Given the description of an element on the screen output the (x, y) to click on. 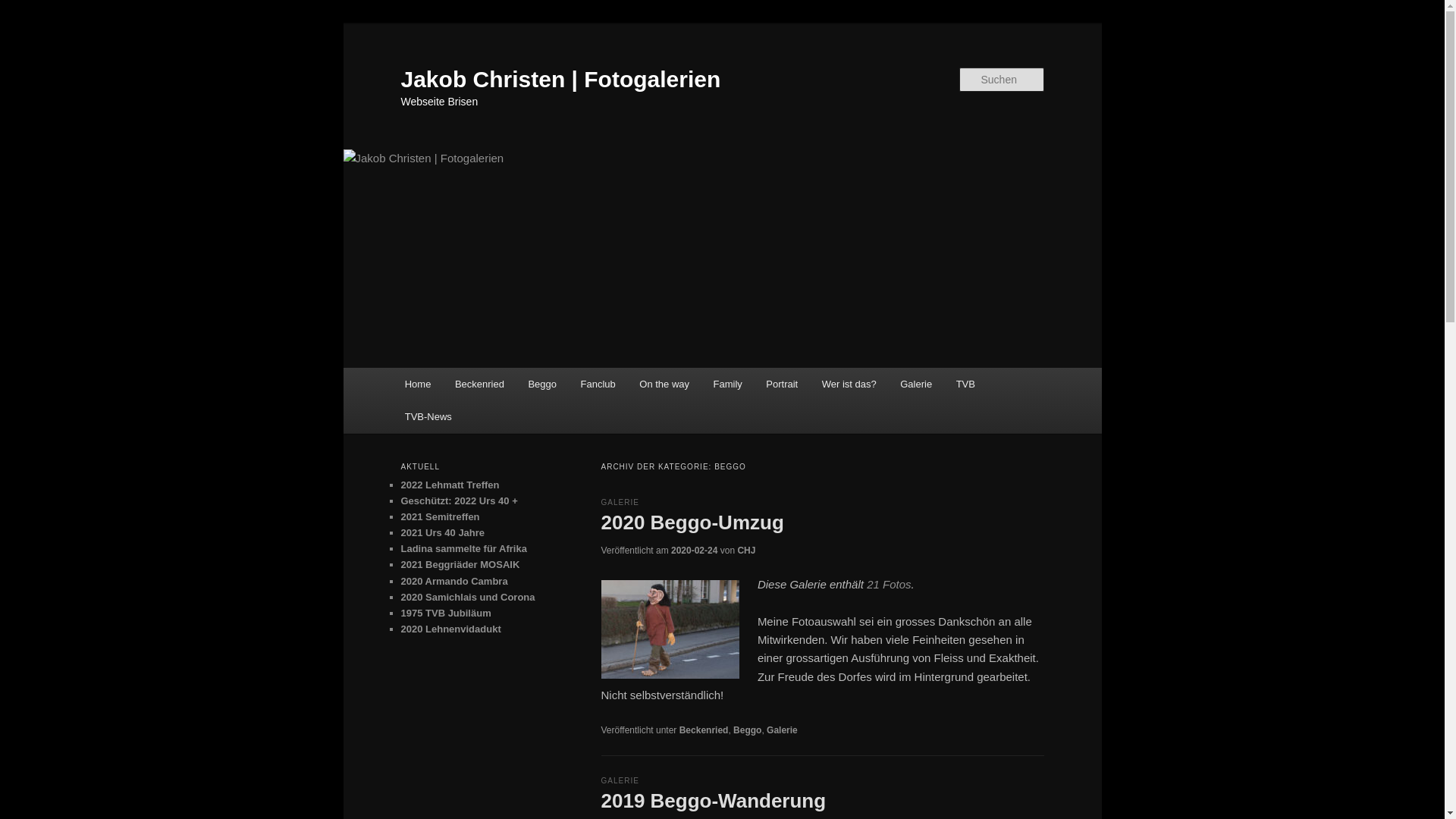
Beggo Element type: text (747, 729)
2021 Urs 40 Jahre Element type: text (442, 532)
2020 Lehnenvidadukt Element type: text (450, 628)
Galerie Element type: text (915, 383)
On the way Element type: text (664, 383)
Wer ist das? Element type: text (848, 383)
Beckenried Element type: text (479, 383)
Fanclub Element type: text (597, 383)
Beckenried Element type: text (703, 729)
Home Element type: text (417, 383)
Portrait Element type: text (781, 383)
21 Fotos Element type: text (888, 583)
2019 Beggo-Wanderung Element type: text (712, 800)
2021 Semitreffen Element type: text (439, 516)
2020-02-24 Element type: text (694, 550)
Galerie Element type: text (781, 729)
Zum Inhalt wechseln Element type: text (414, 367)
2020 Beggo-Umzug Element type: text (691, 522)
Suchen Element type: text (25, 8)
TVB Element type: text (965, 383)
2022 Lehmatt Treffen Element type: text (449, 484)
TVB-News Element type: text (428, 416)
Family Element type: text (727, 383)
CHJ Element type: text (746, 550)
2020 Samichlais und Corona Element type: text (467, 596)
2020 Armando Cambra Element type: text (453, 580)
Beggo Element type: text (542, 383)
Jakob Christen | Fotogalerien Element type: text (560, 78)
